Given the description of an element on the screen output the (x, y) to click on. 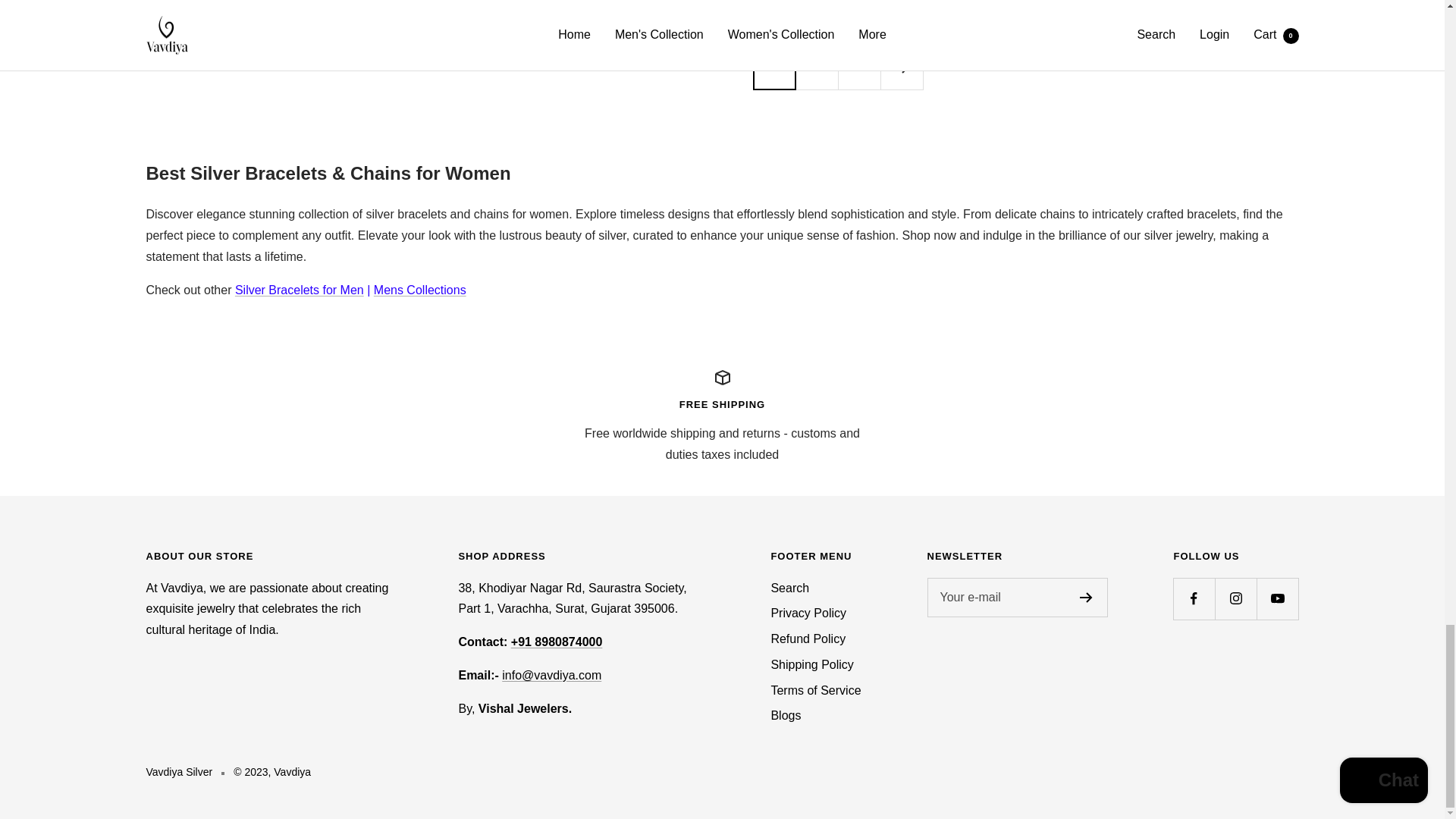
Register (1086, 597)
